Given the description of an element on the screen output the (x, y) to click on. 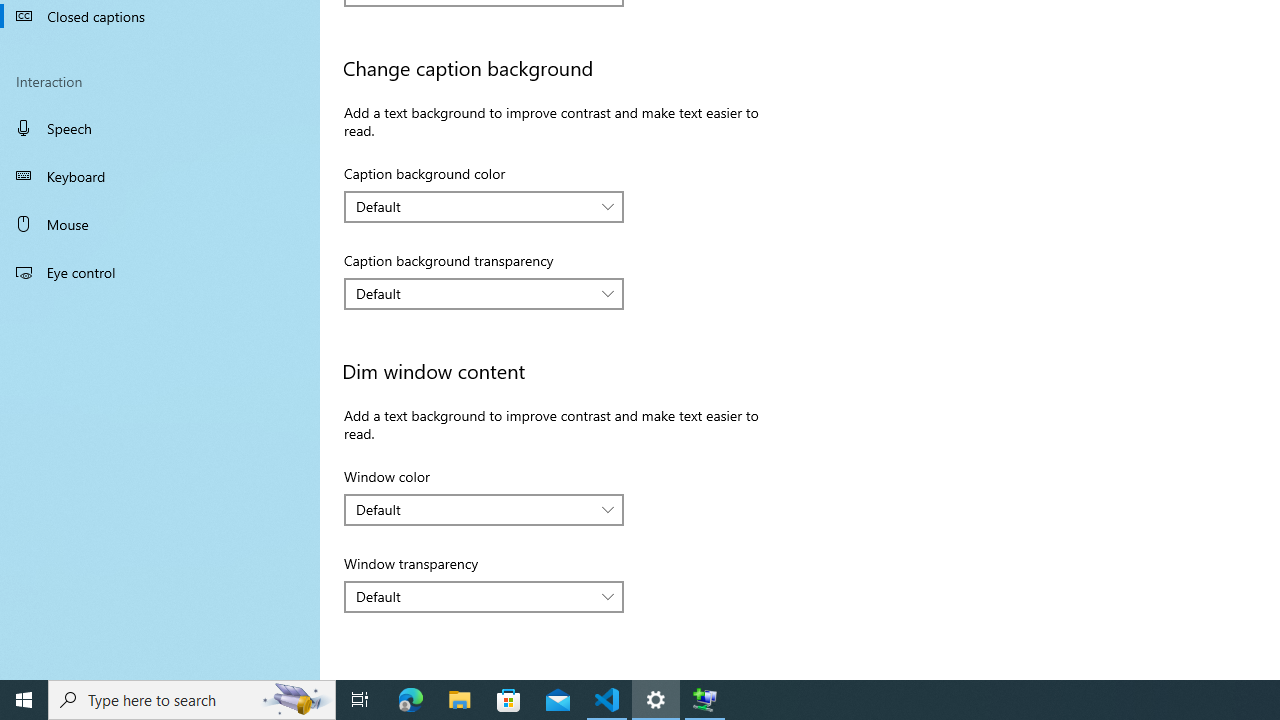
Caption background transparency (484, 293)
Speech (160, 127)
Keyboard (160, 175)
Window transparency (484, 596)
Mouse (160, 223)
Caption background color (484, 206)
Extensible Wizards Host Process - 1 running window (704, 699)
Default (473, 596)
Eye control (160, 271)
